Given the description of an element on the screen output the (x, y) to click on. 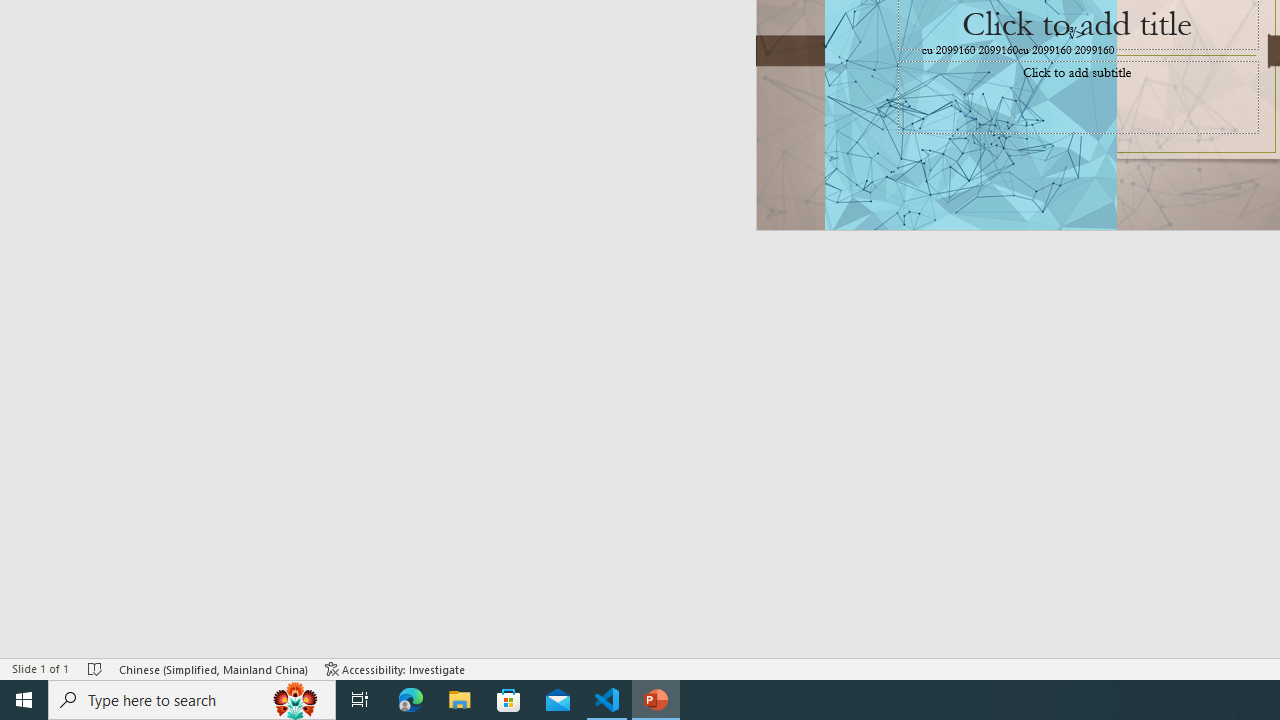
TextBox 61 (1074, 51)
TextBox 7 (1069, 33)
